Given the description of an element on the screen output the (x, y) to click on. 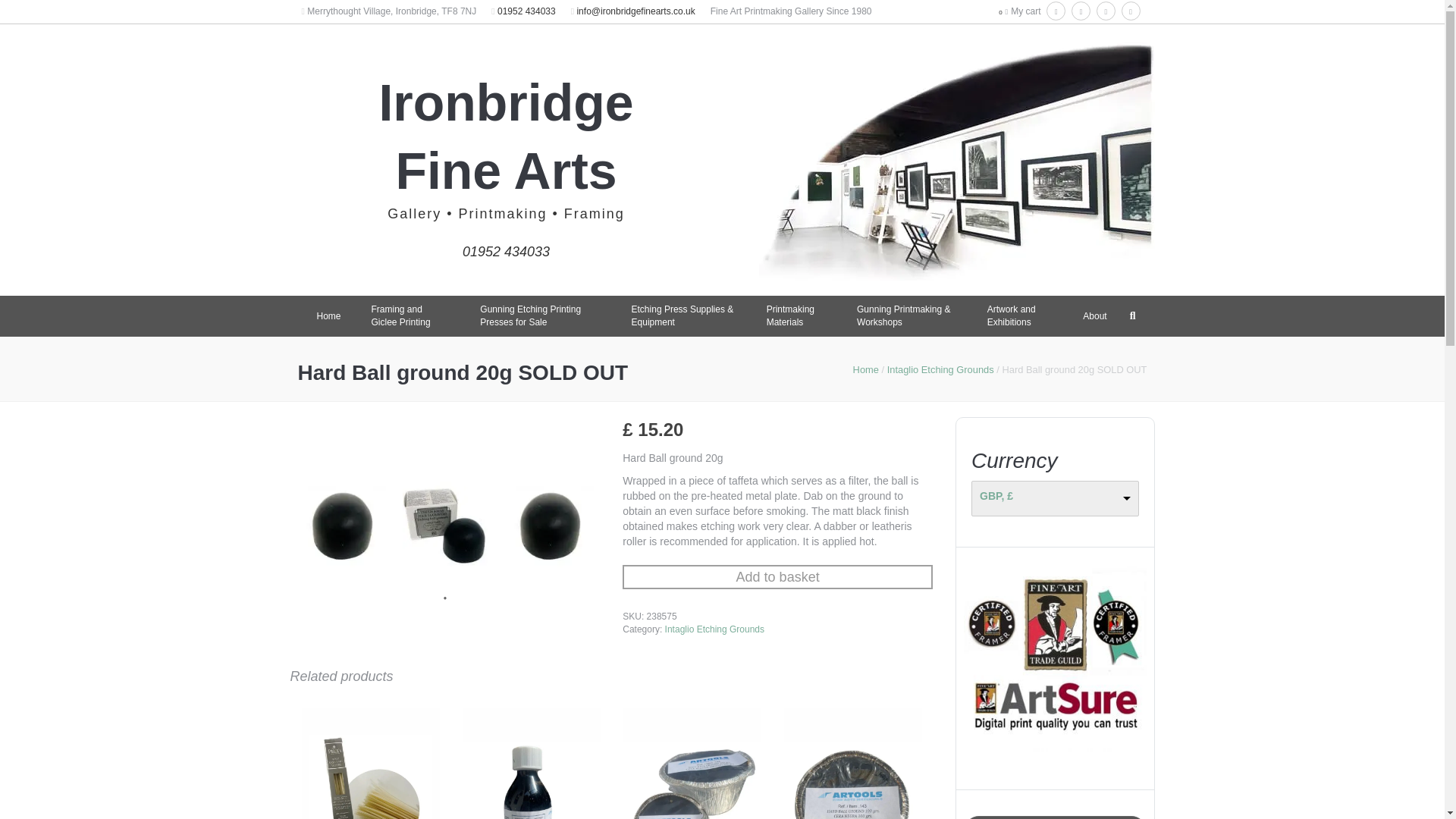
Ironbridge Fine Arts (505, 136)
01952 434033 (506, 244)
Framing and Giclee Printing (411, 315)
01952 434033 (526, 10)
Printmaking (502, 213)
Framing (594, 213)
View your shopping cart (1025, 10)
Gunning Etching Printing Presses for Sale (539, 315)
Home (328, 316)
Gallery (414, 213)
